Given the description of an element on the screen output the (x, y) to click on. 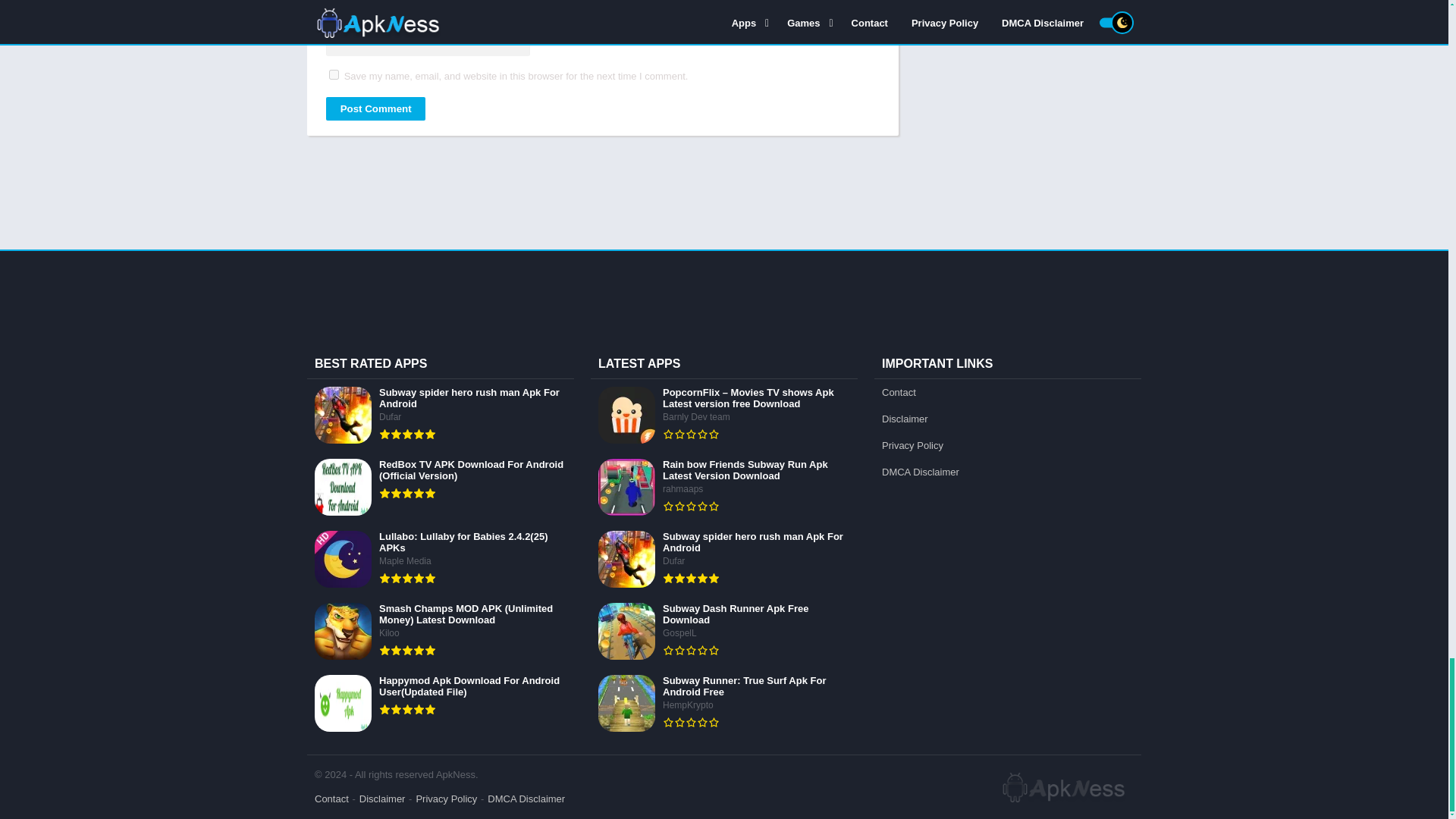
Post Comment (375, 108)
yes (334, 74)
